Given the description of an element on the screen output the (x, y) to click on. 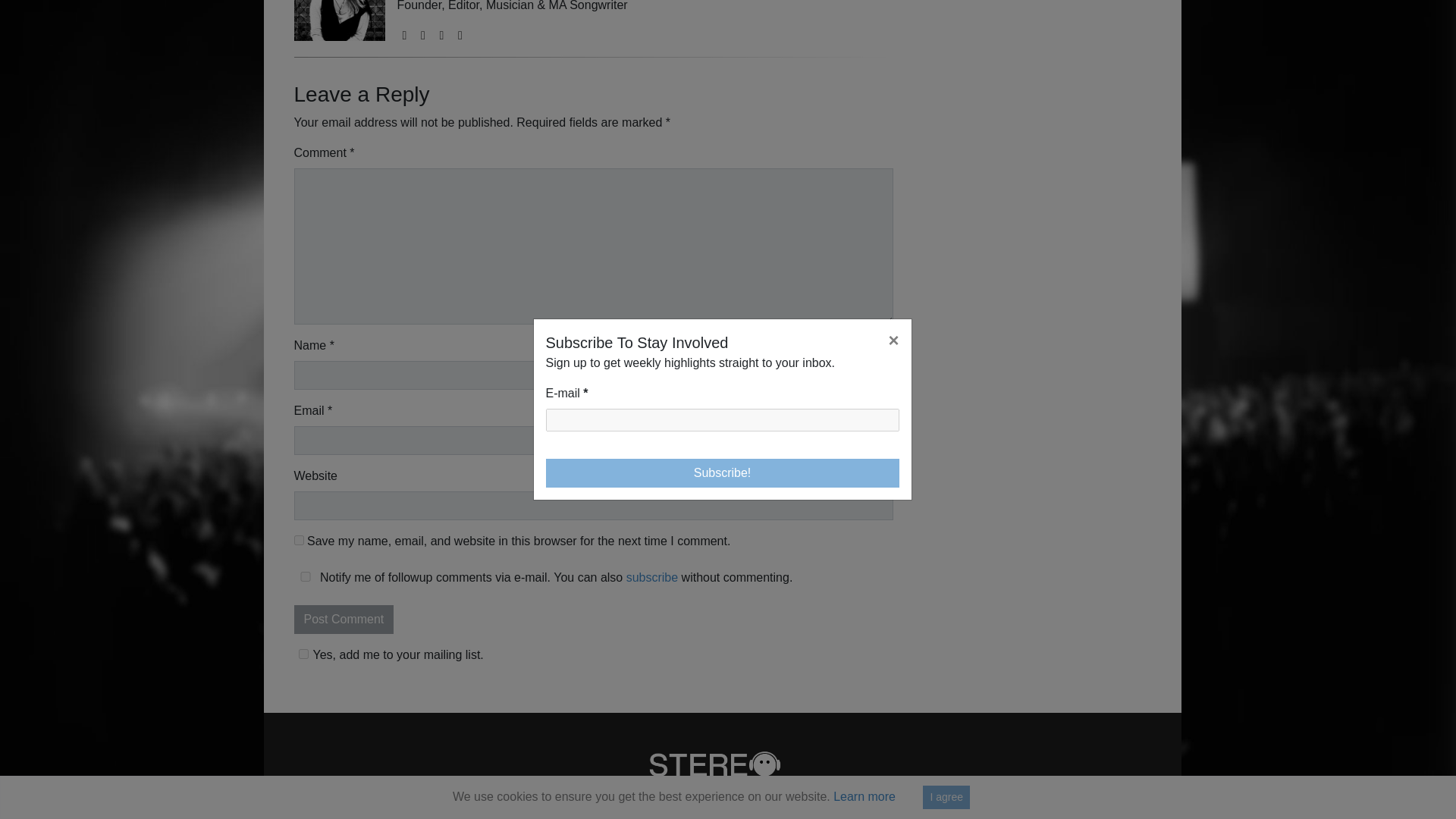
Post Comment (344, 619)
